Given the description of an element on the screen output the (x, y) to click on. 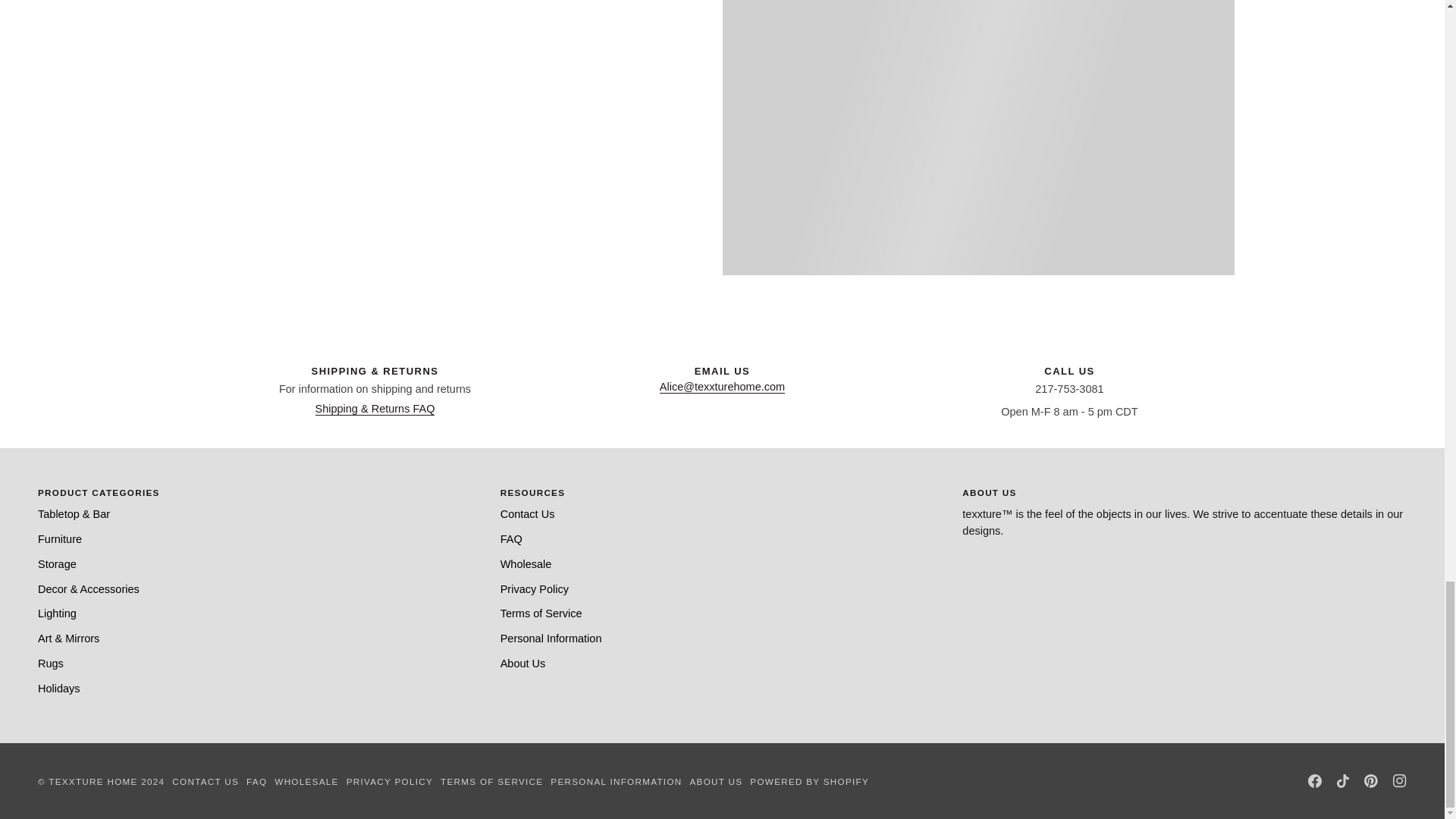
Pinterest (1370, 780)
Facebook (1314, 780)
Instagram (1399, 780)
